Given the description of an element on the screen output the (x, y) to click on. 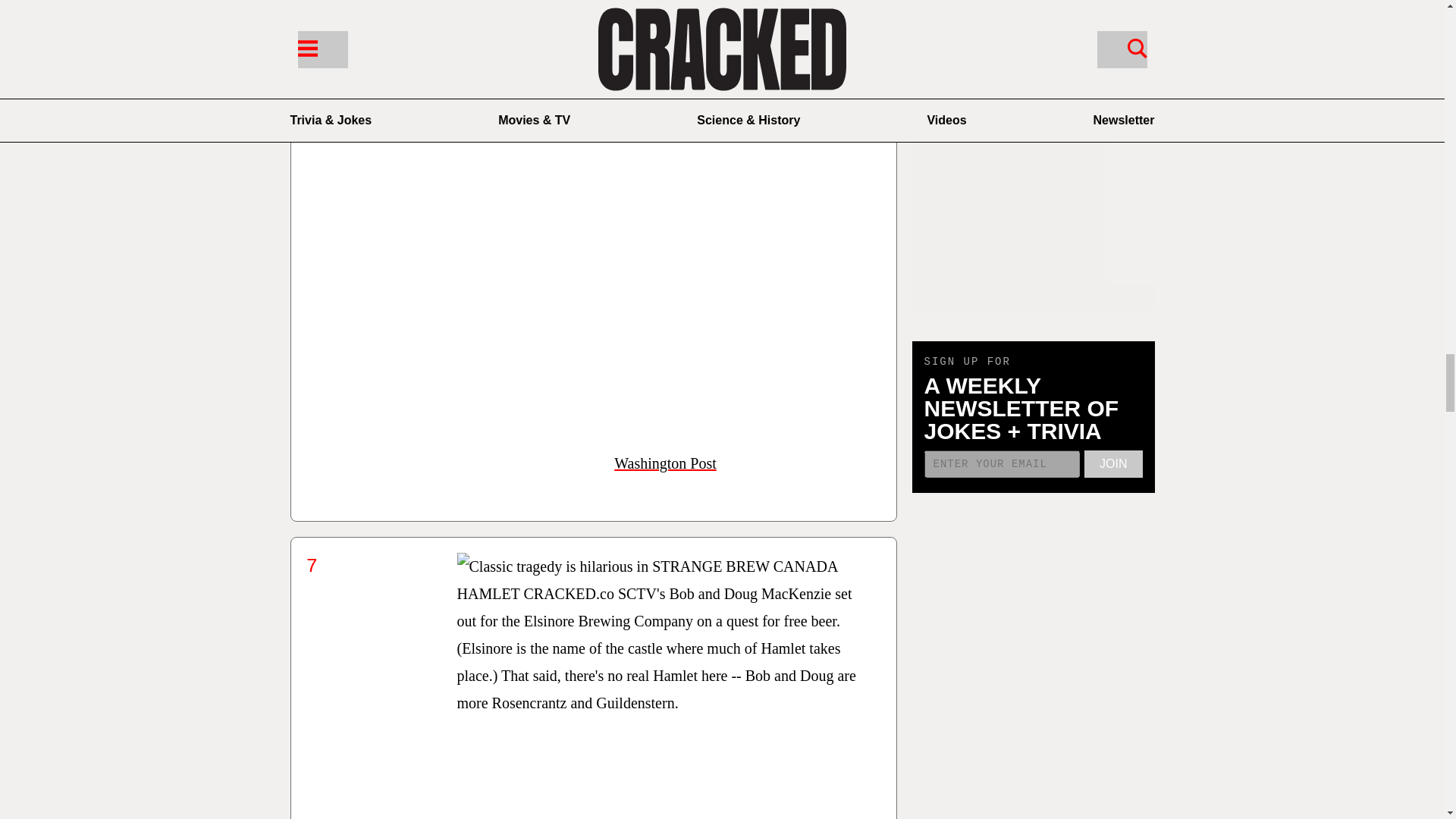
Washington Post (665, 463)
